Given the description of an element on the screen output the (x, y) to click on. 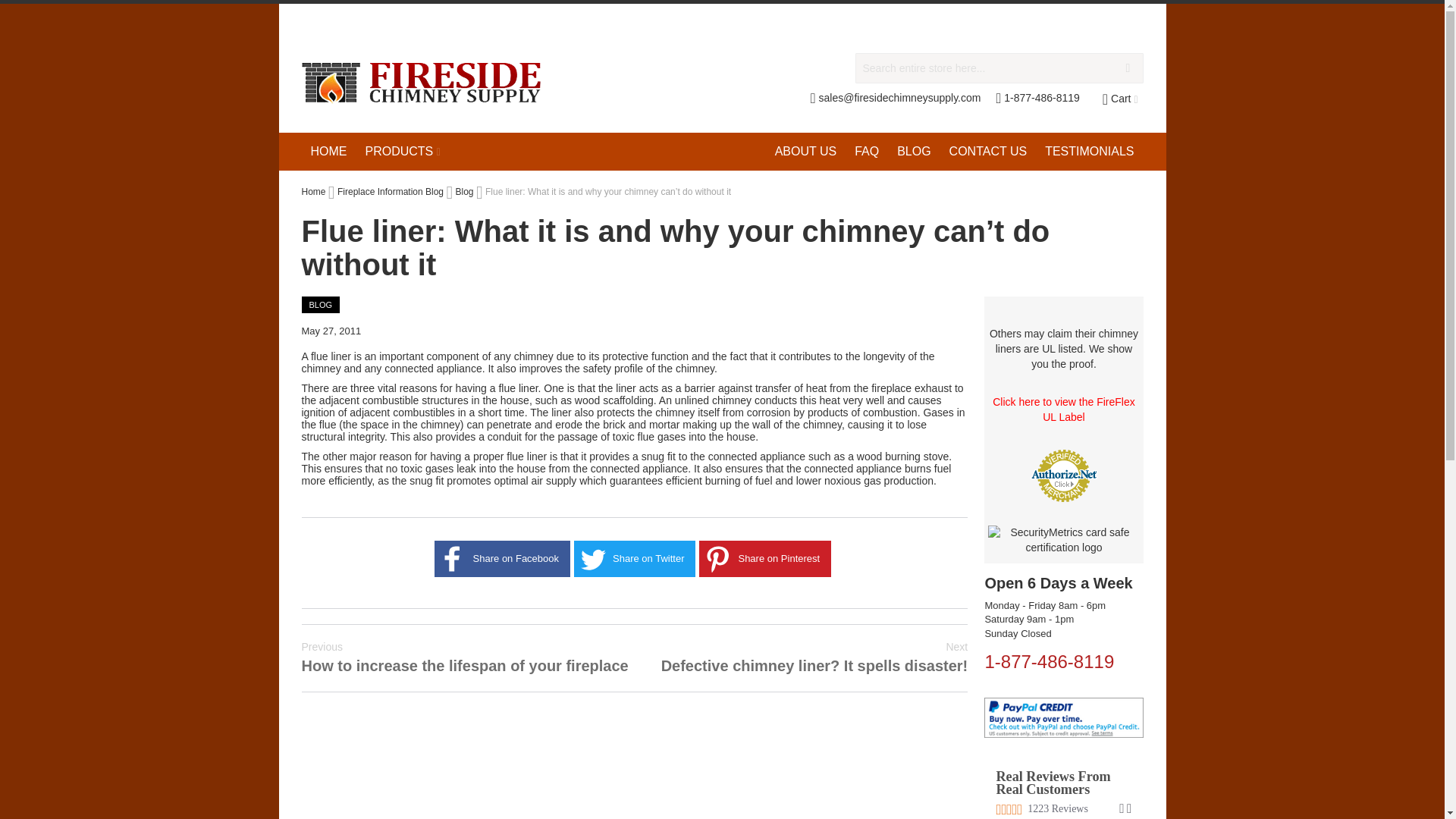
HOME (328, 151)
Share on Facebook (451, 558)
Share on Twitter (591, 558)
Blog (913, 151)
Share on Pinterest (716, 558)
FAQ (866, 151)
Share on Pinterest (716, 558)
Contact Us (988, 151)
Go to Home Page (313, 191)
Share on Facebook (451, 558)
Blog (463, 191)
TESTIMONIALS (1088, 151)
CONTACT US (988, 151)
Blog (320, 304)
About Us (805, 151)
